Given the description of an element on the screen output the (x, y) to click on. 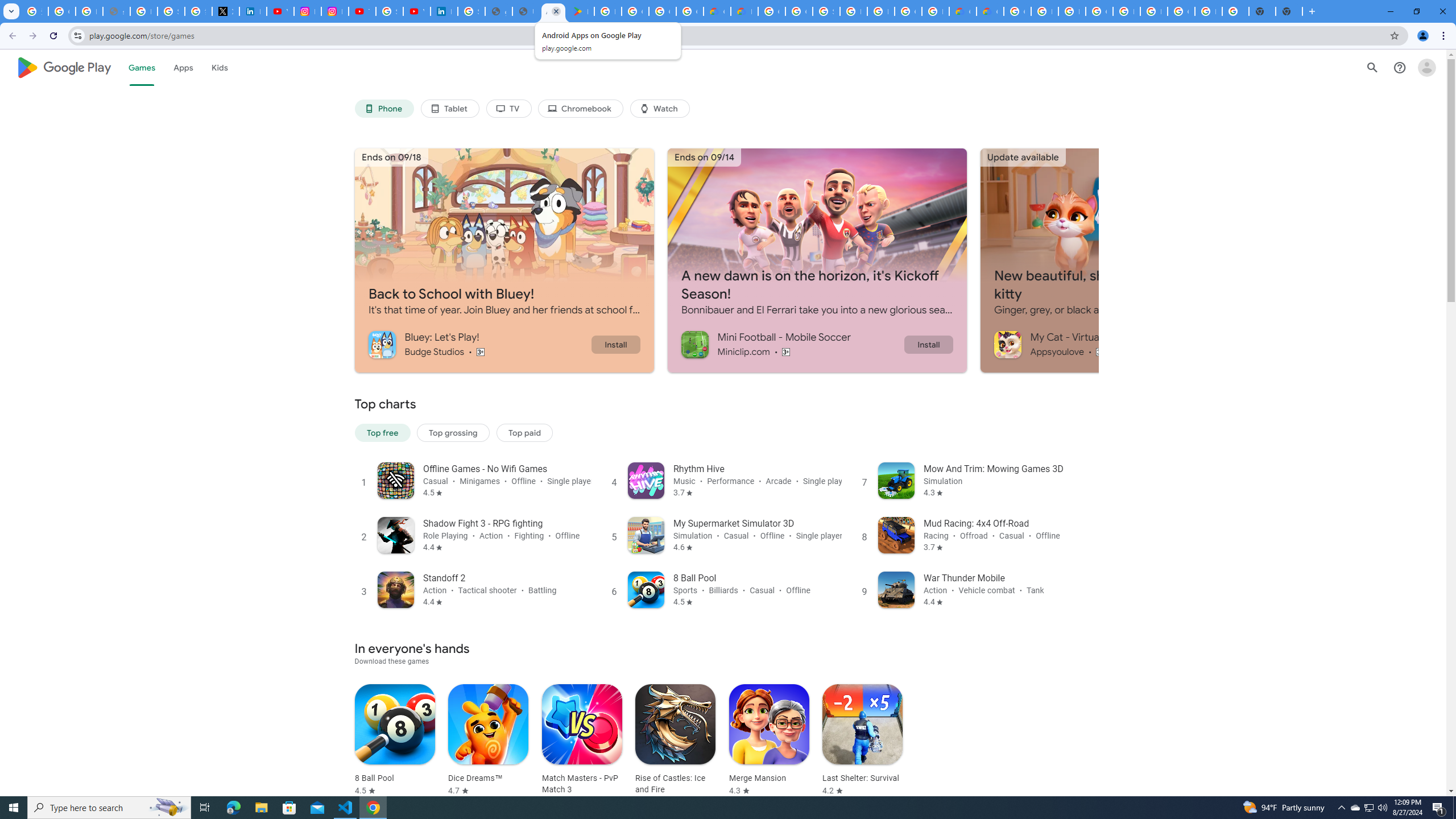
Sign in - Google Accounts (170, 11)
Google Cloud Estimate Summary (990, 11)
User Details (525, 11)
Sign in - Google Accounts (471, 11)
Open account menu (1426, 67)
Browse Chrome as a guest - Computer - Google Chrome Help (1071, 11)
Top free (381, 432)
